Given the description of an element on the screen output the (x, y) to click on. 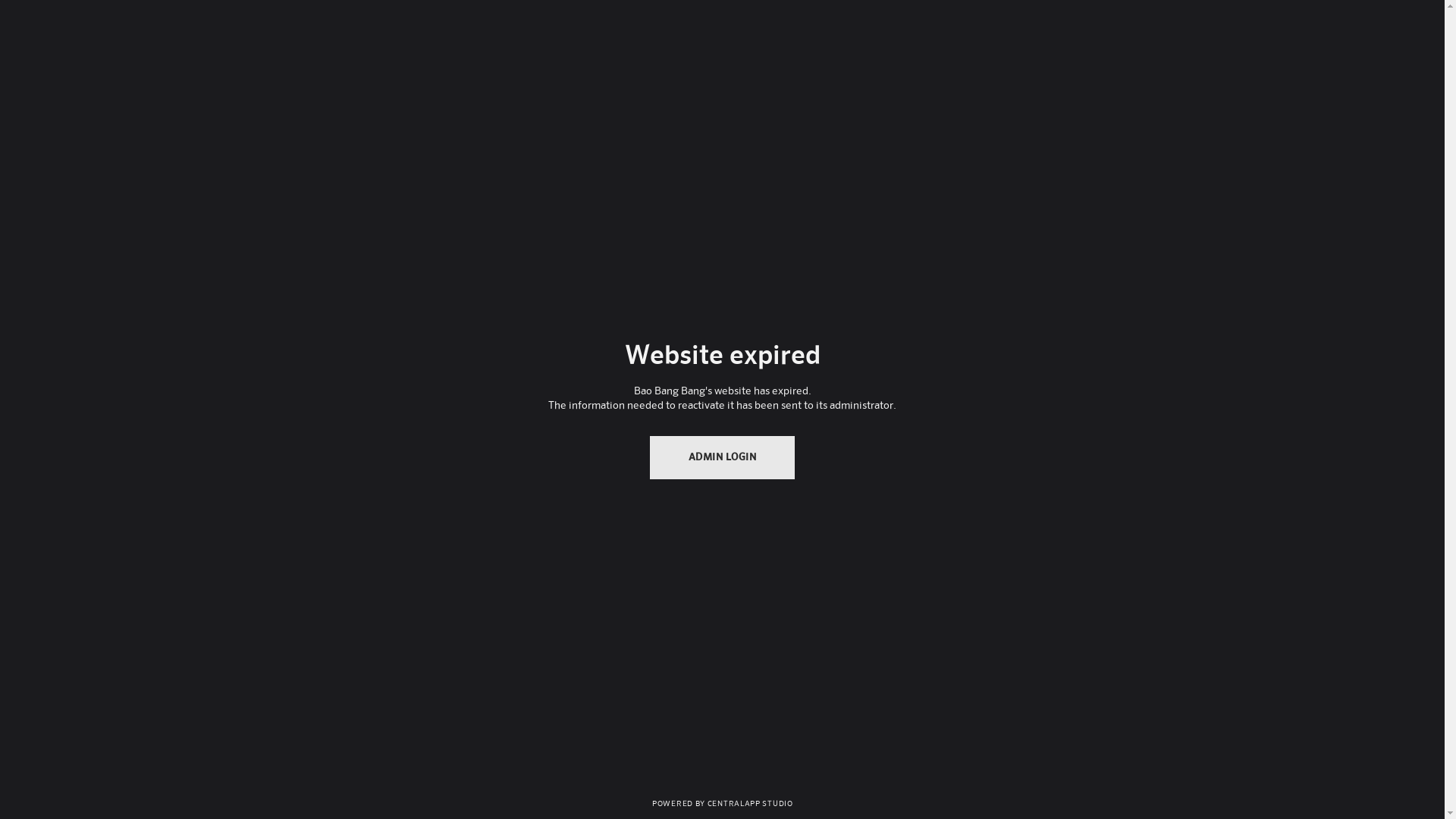
Powered by Centralapp Studio Element type: text (721, 802)
ADMIN LOGIN Element type: text (722, 457)
